Given the description of an element on the screen output the (x, y) to click on. 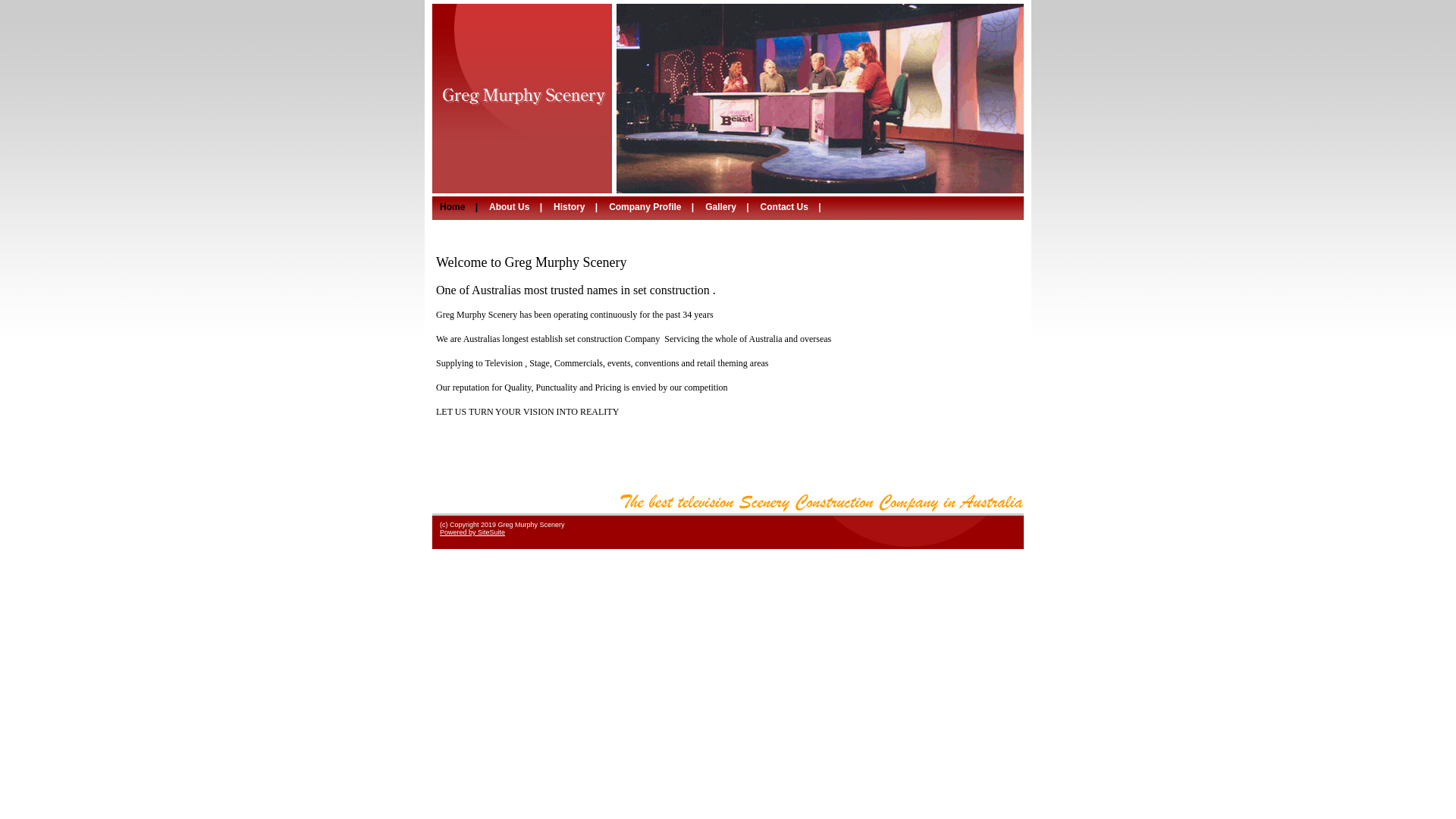
Company Profile    |    Element type: text (653, 206)
About Us    |    Element type: text (517, 206)
Powered by SiteSuite Element type: text (472, 532)
Contact Us    |    Element type: text (792, 206)
Home    |    Element type: text (460, 206)
Gallery    |    Element type: text (728, 206)
History    |    Element type: text (577, 206)
